Given the description of an element on the screen output the (x, y) to click on. 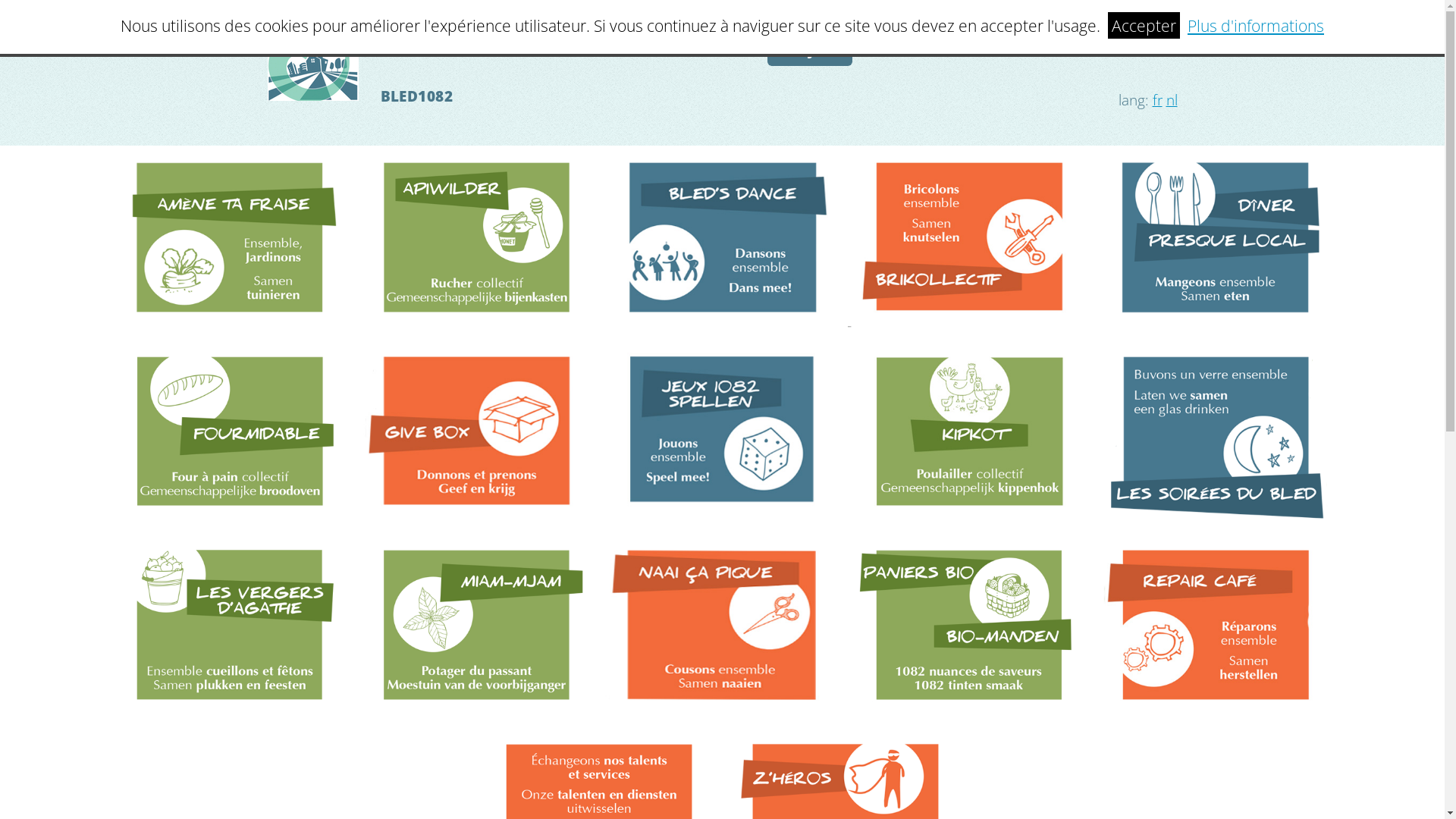
Accepter Element type: text (1143, 25)
Qui ? Element type: text (1031, 48)
Projets Element type: text (809, 48)
nl Element type: text (1171, 99)
Plus d'informations Element type: text (1255, 25)
Contact Element type: text (1132, 48)
fr Element type: text (1157, 99)
